Given the description of an element on the screen output the (x, y) to click on. 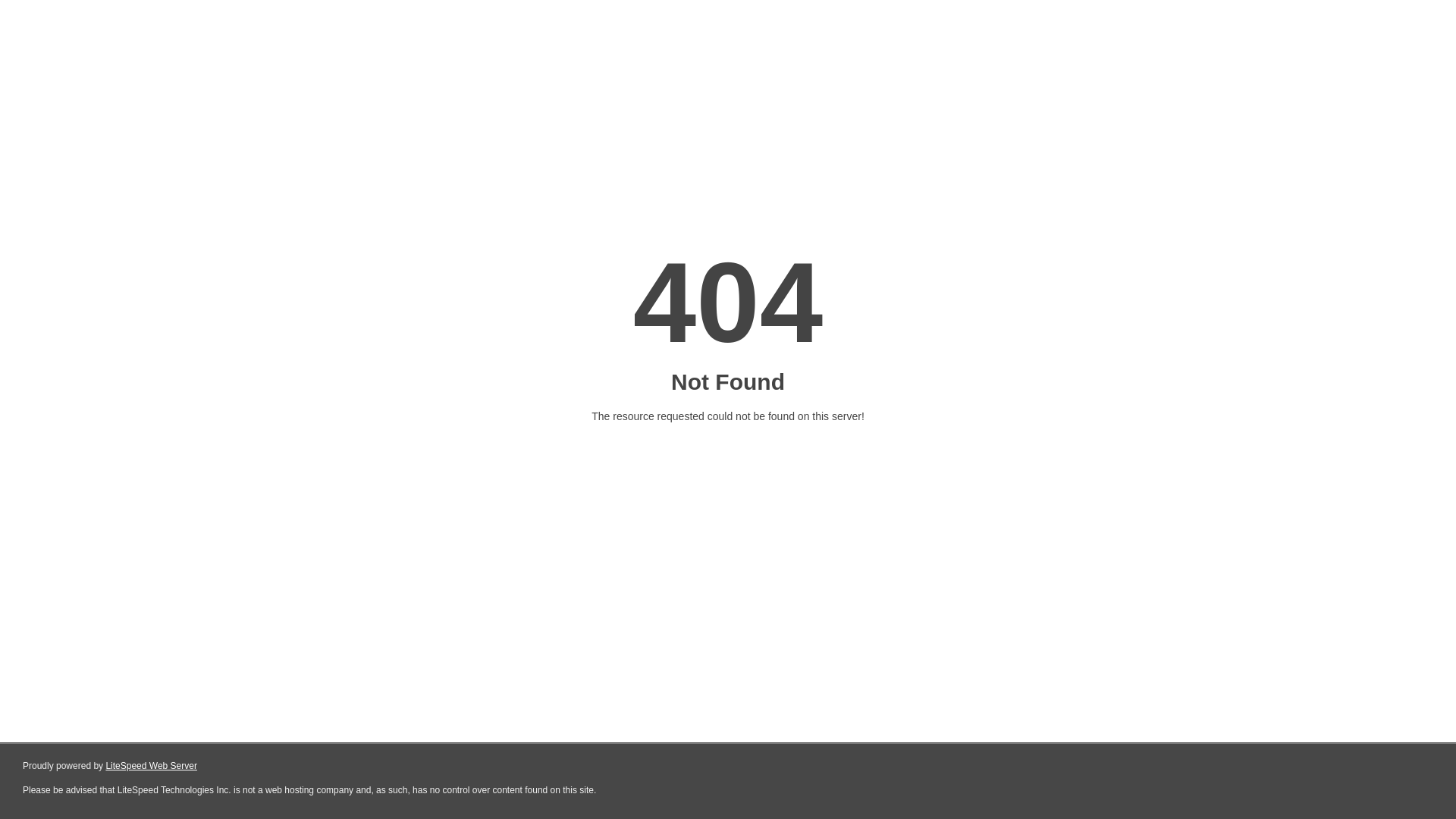
LiteSpeed Web Server Element type: text (151, 765)
